Given the description of an element on the screen output the (x, y) to click on. 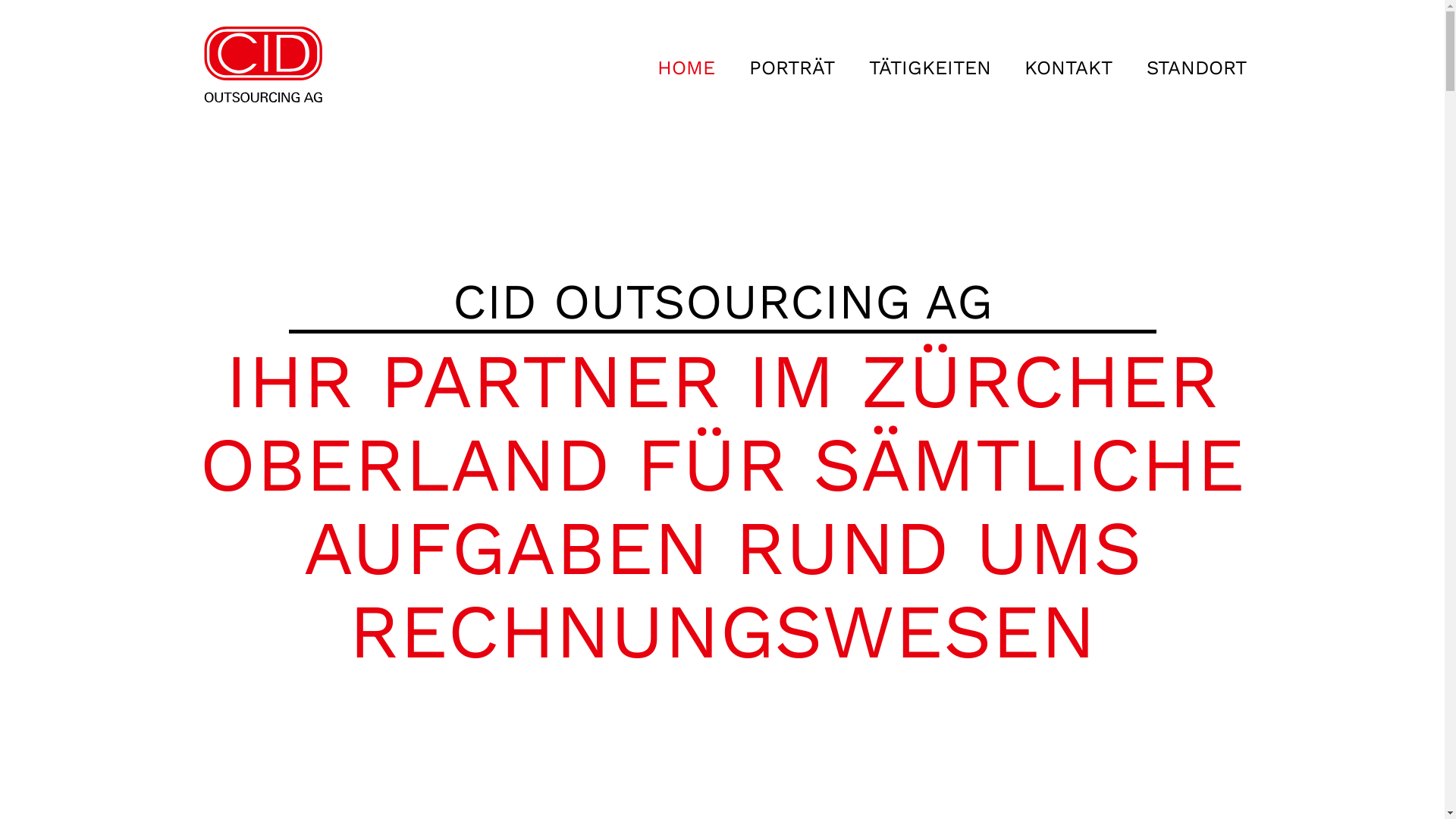
KONTAKT Element type: text (1068, 61)
HOME Element type: text (686, 61)
STANDORT Element type: text (1196, 61)
